Given the description of an element on the screen output the (x, y) to click on. 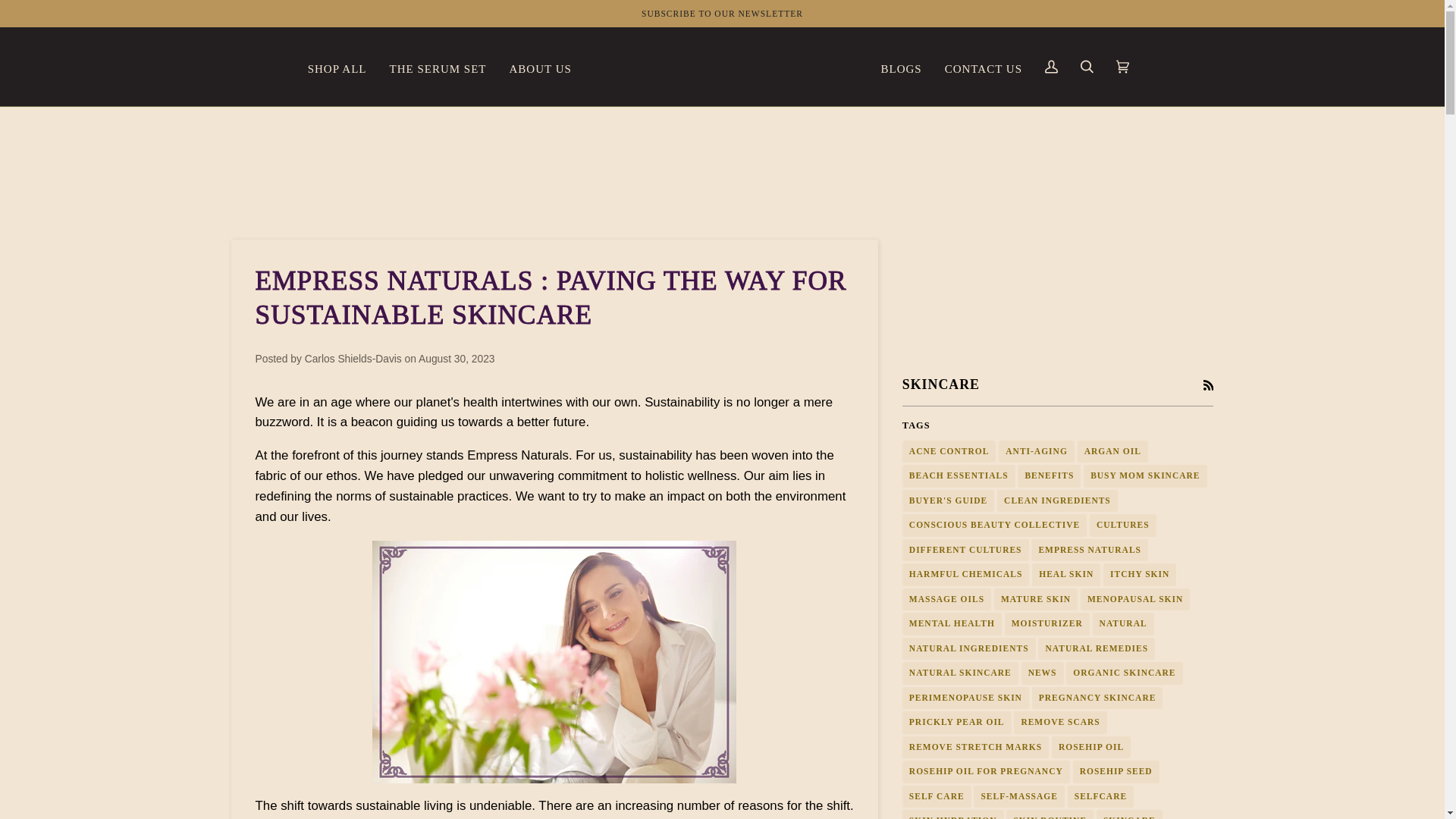
BLOGS (901, 66)
CONTACT US (983, 66)
My Account (1050, 66)
Search (1086, 66)
THE SERUM SET (437, 66)
SHOP ALL (337, 66)
ABOUT US (540, 66)
